Given the description of an element on the screen output the (x, y) to click on. 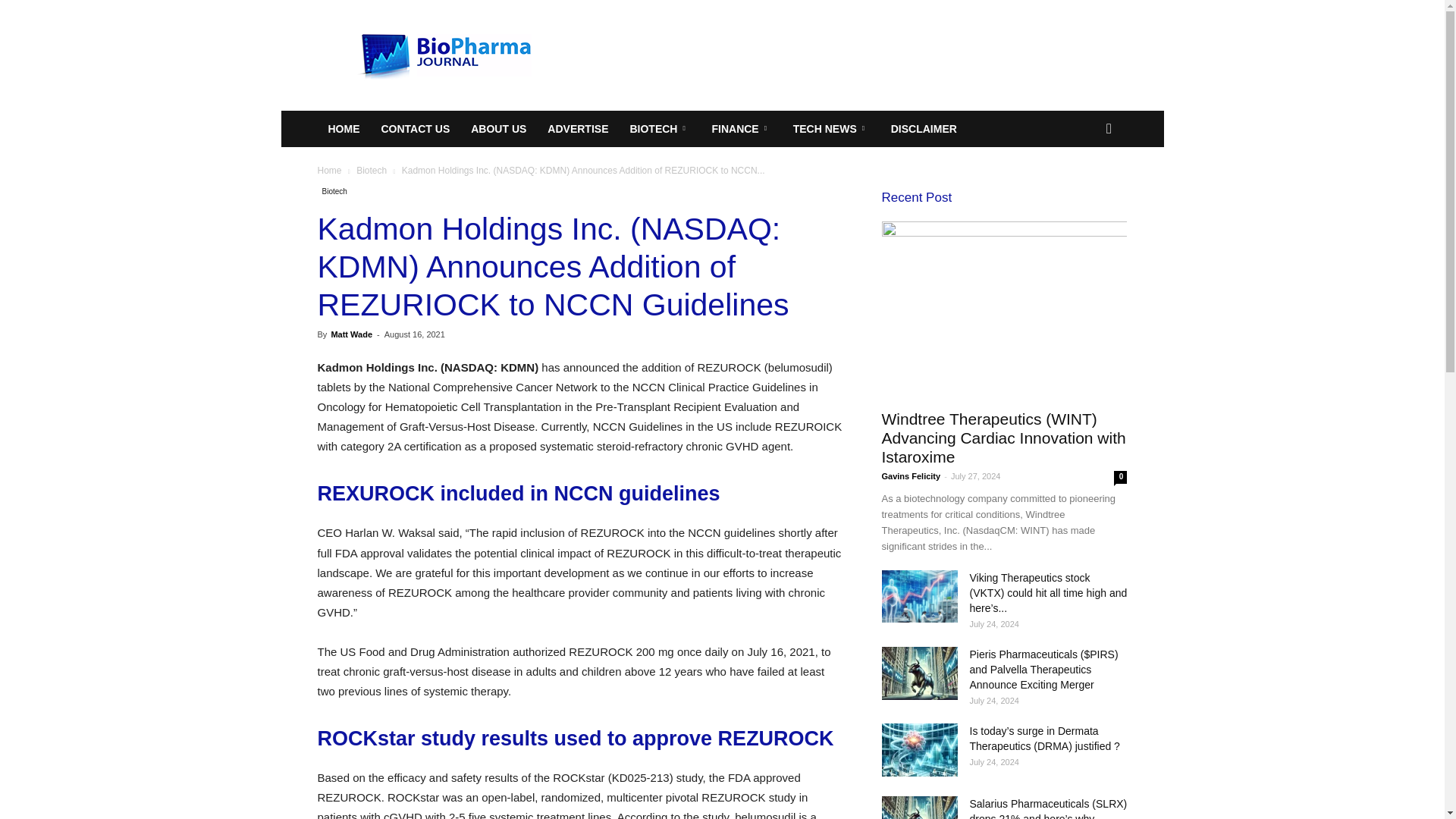
FINANCE (740, 128)
CONTACT US (414, 128)
HOME (343, 128)
ABOUT US (498, 128)
ADVERTISE (577, 128)
BIOTECH (659, 128)
